Given the description of an element on the screen output the (x, y) to click on. 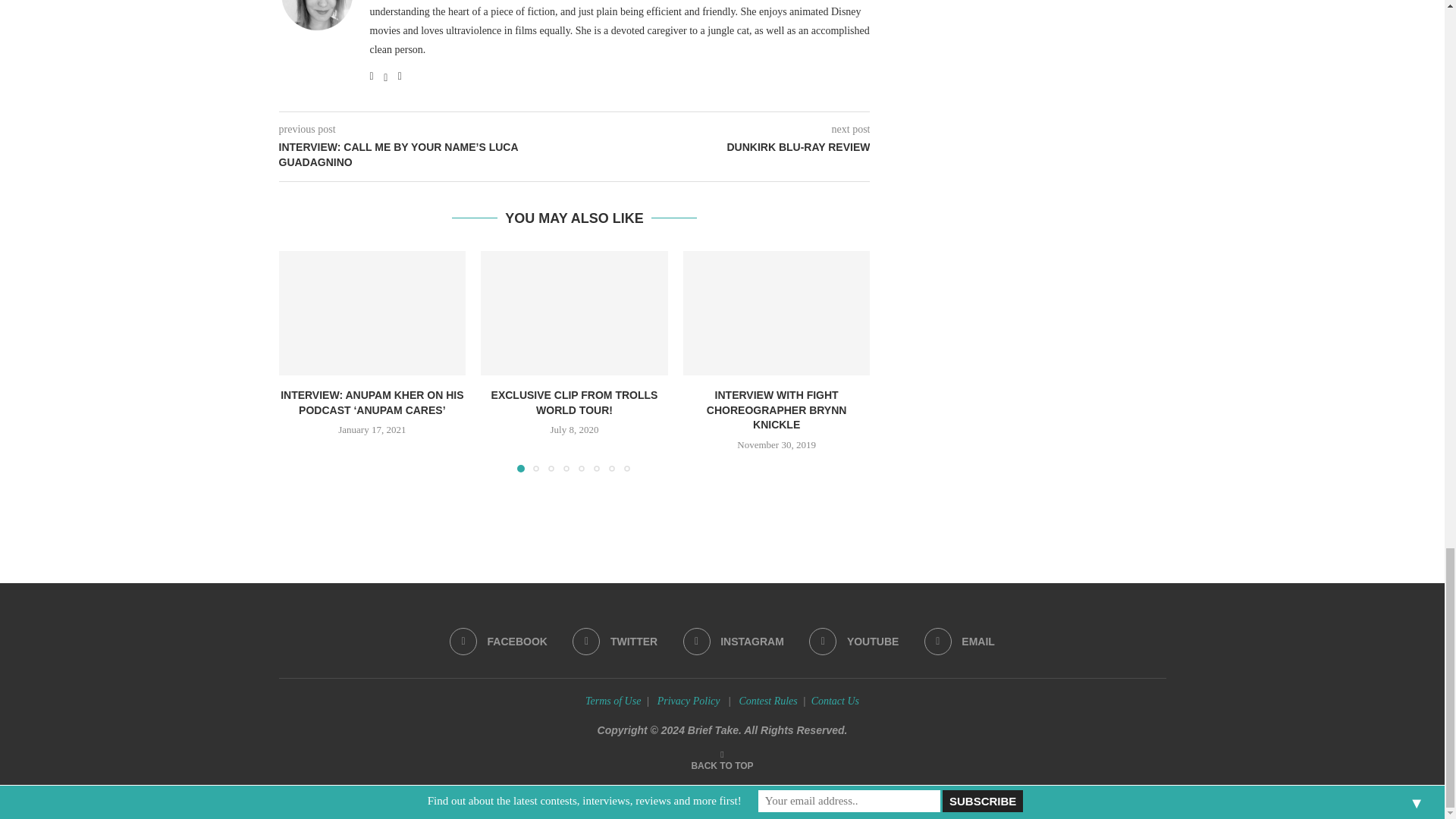
Exclusive clip from Trolls World Tour! (574, 312)
Interview with Fight Choreographer Brynn Knickle (776, 312)
